Given the description of an element on the screen output the (x, y) to click on. 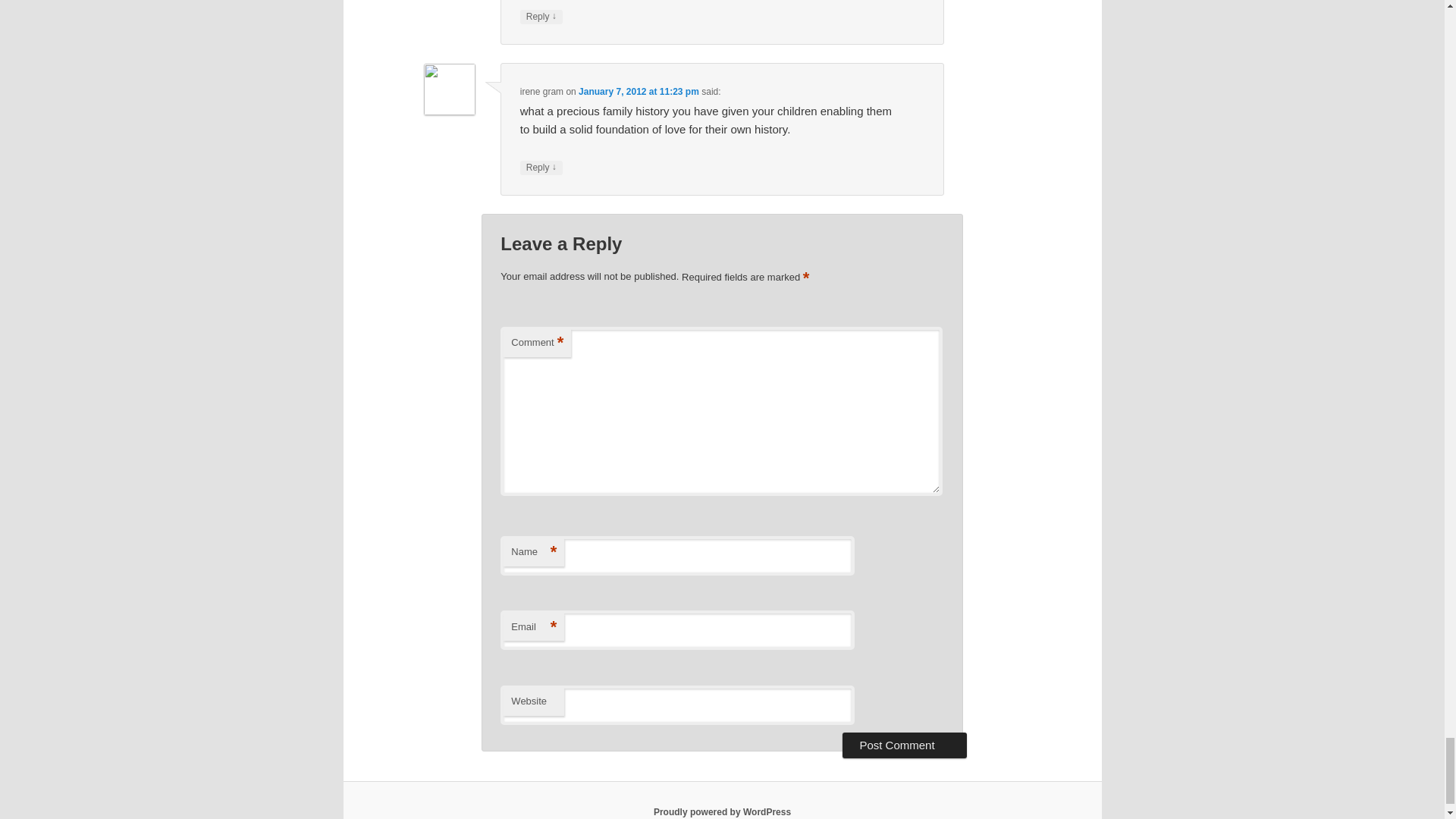
Proudly powered by WordPress (721, 811)
January 7, 2012 at 11:23 pm (638, 91)
Post Comment (904, 745)
Post Comment (904, 745)
